Given the description of an element on the screen output the (x, y) to click on. 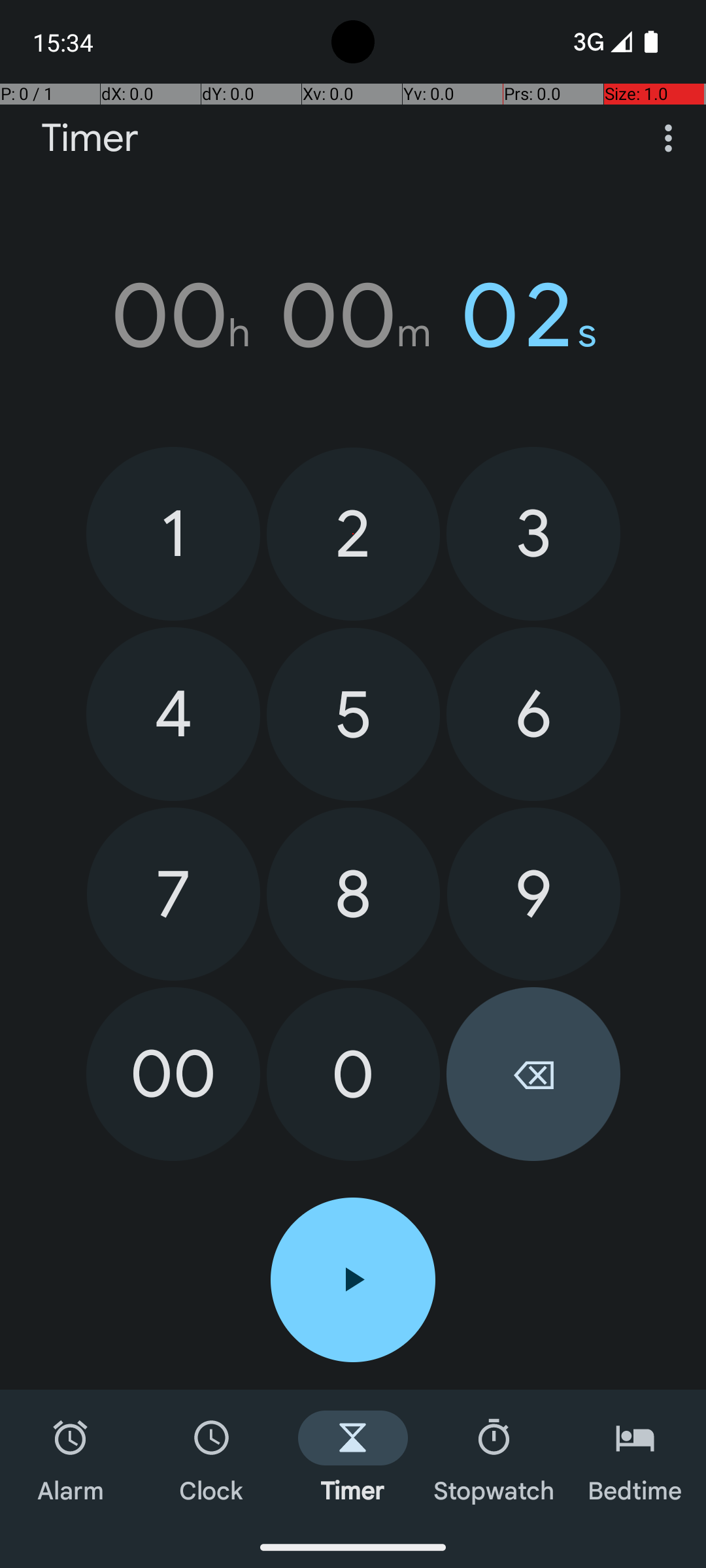
00h 00m 02s Element type: android.widget.TextView (353, 315)
